Given the description of an element on the screen output the (x, y) to click on. 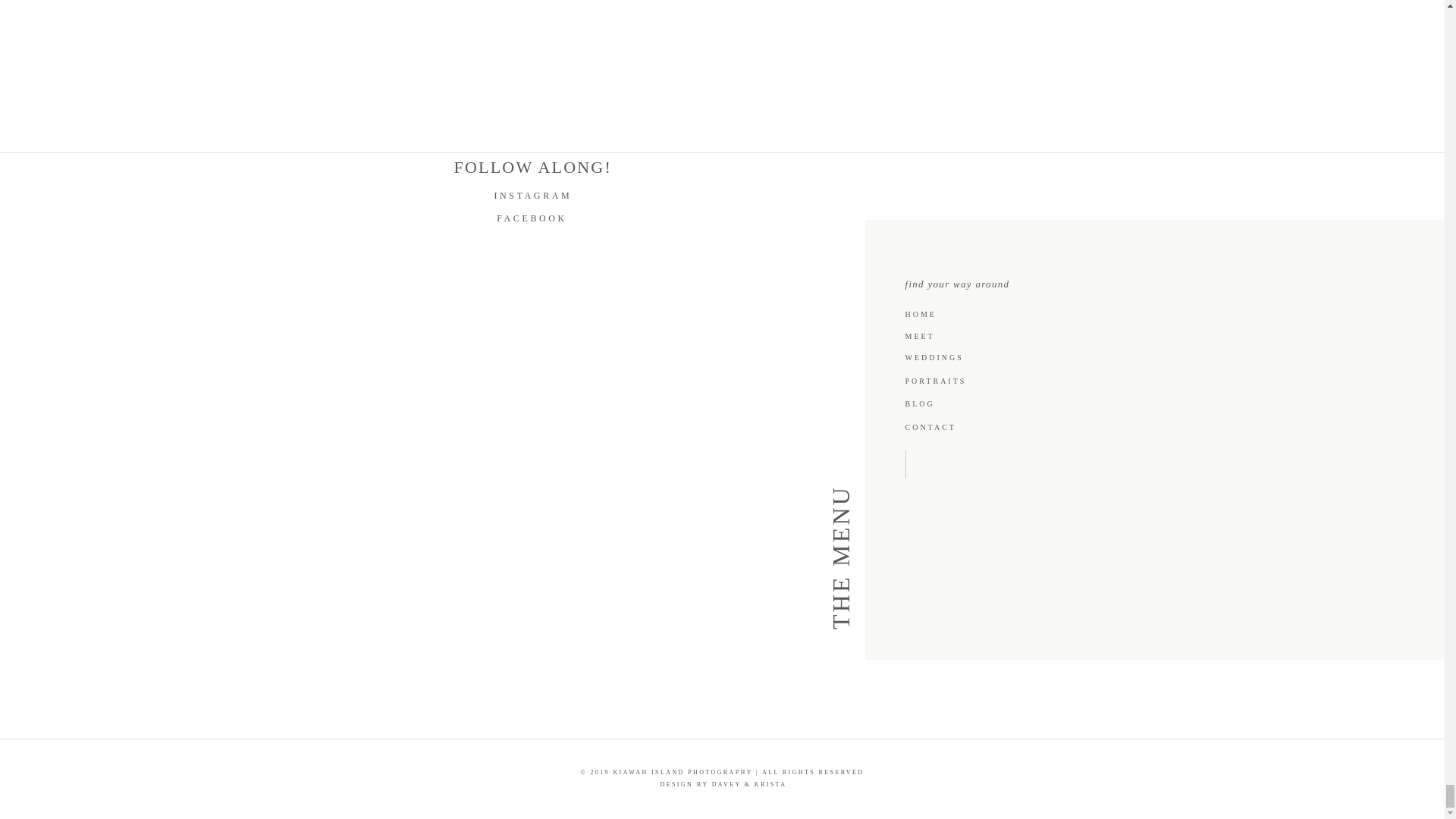
FOLLOW ALONG! (539, 168)
CONTACT (938, 426)
BLOG (933, 402)
find your way around (990, 280)
